Given the description of an element on the screen output the (x, y) to click on. 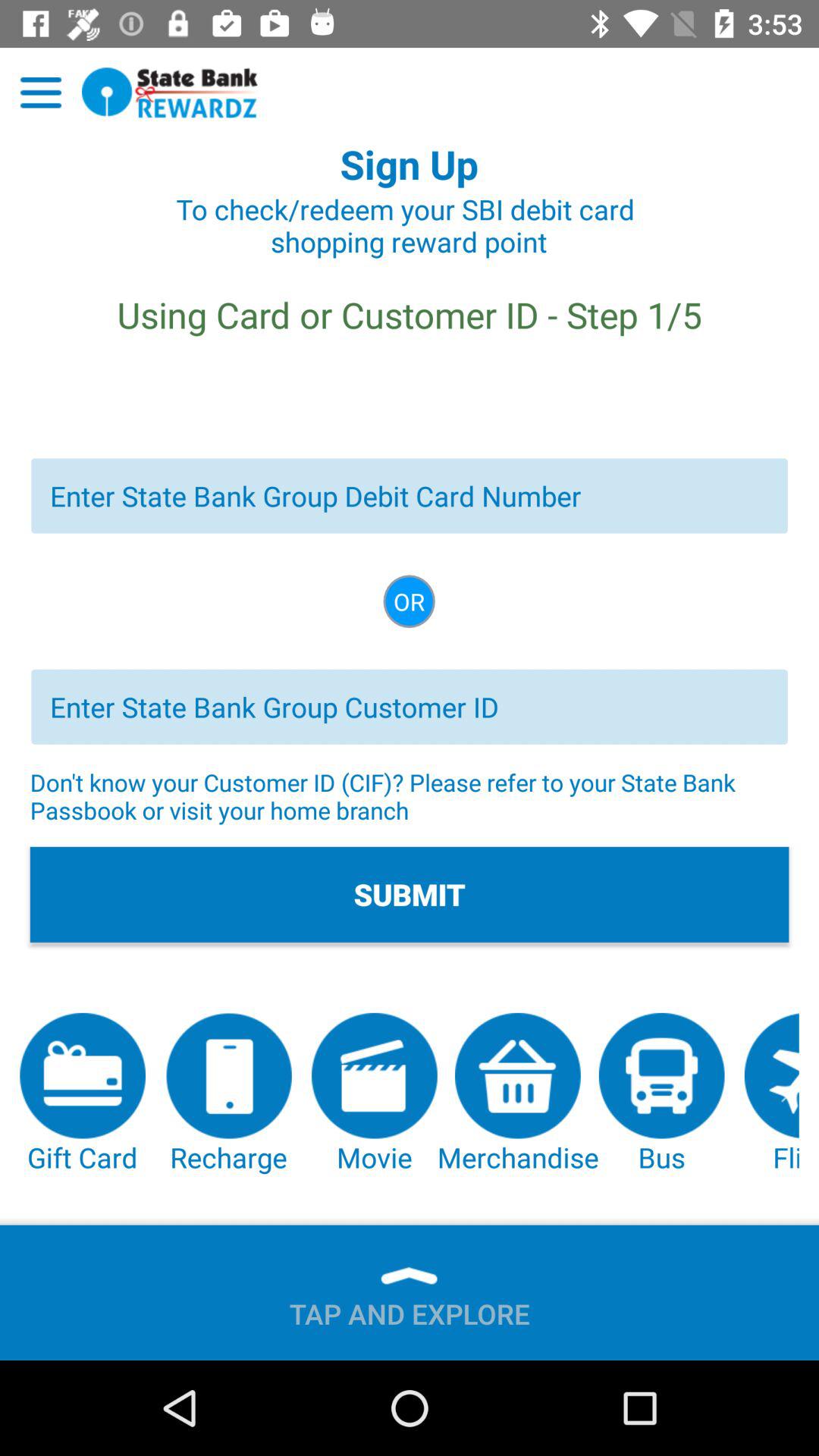
press bus (661, 1094)
